Given the description of an element on the screen output the (x, y) to click on. 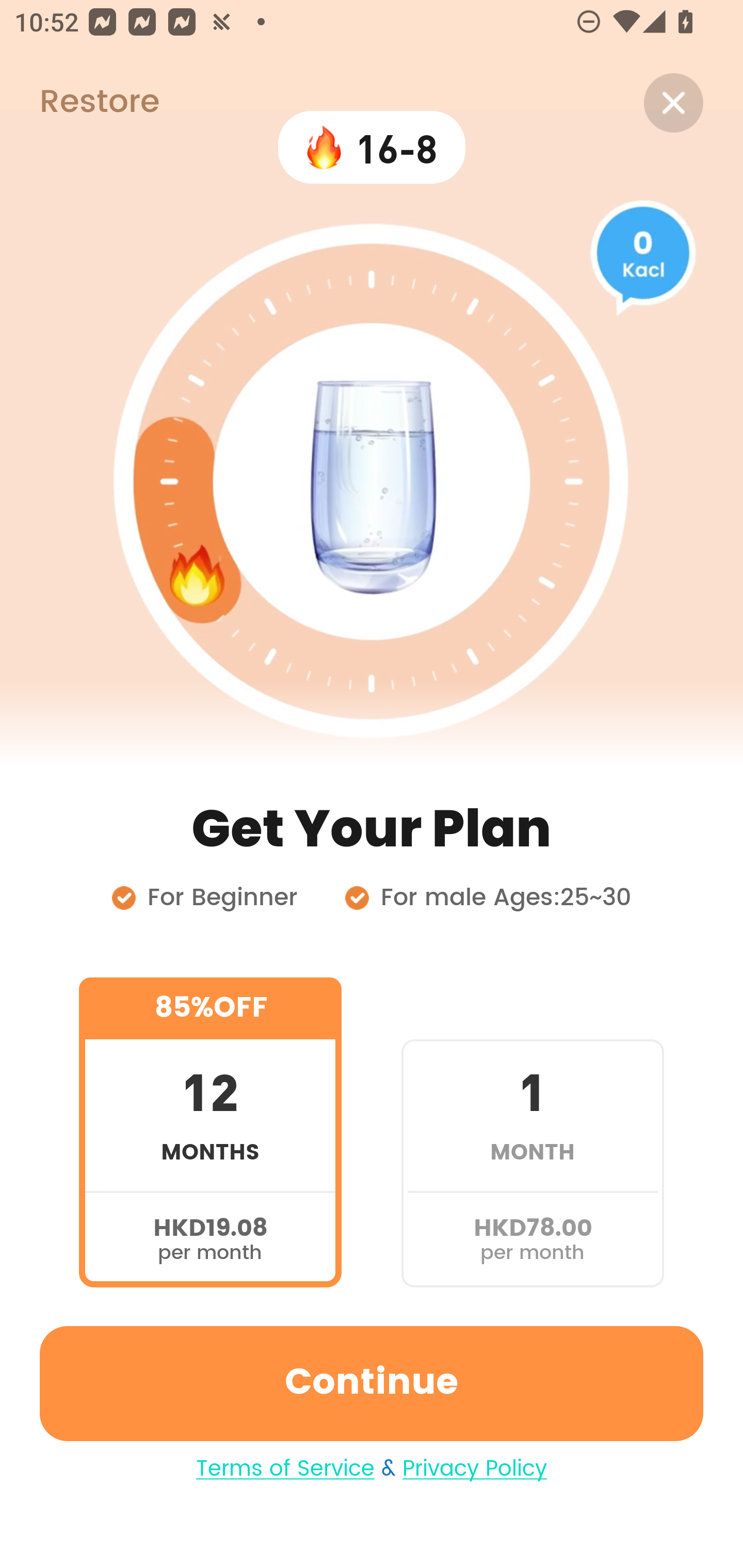
Restore (79, 102)
85%OFF 12 MONTHS per month HKD19.08 (209, 1131)
1 MONTH per month HKD78.00 (532, 1131)
Continue (371, 1383)
